Given the description of an element on the screen output the (x, y) to click on. 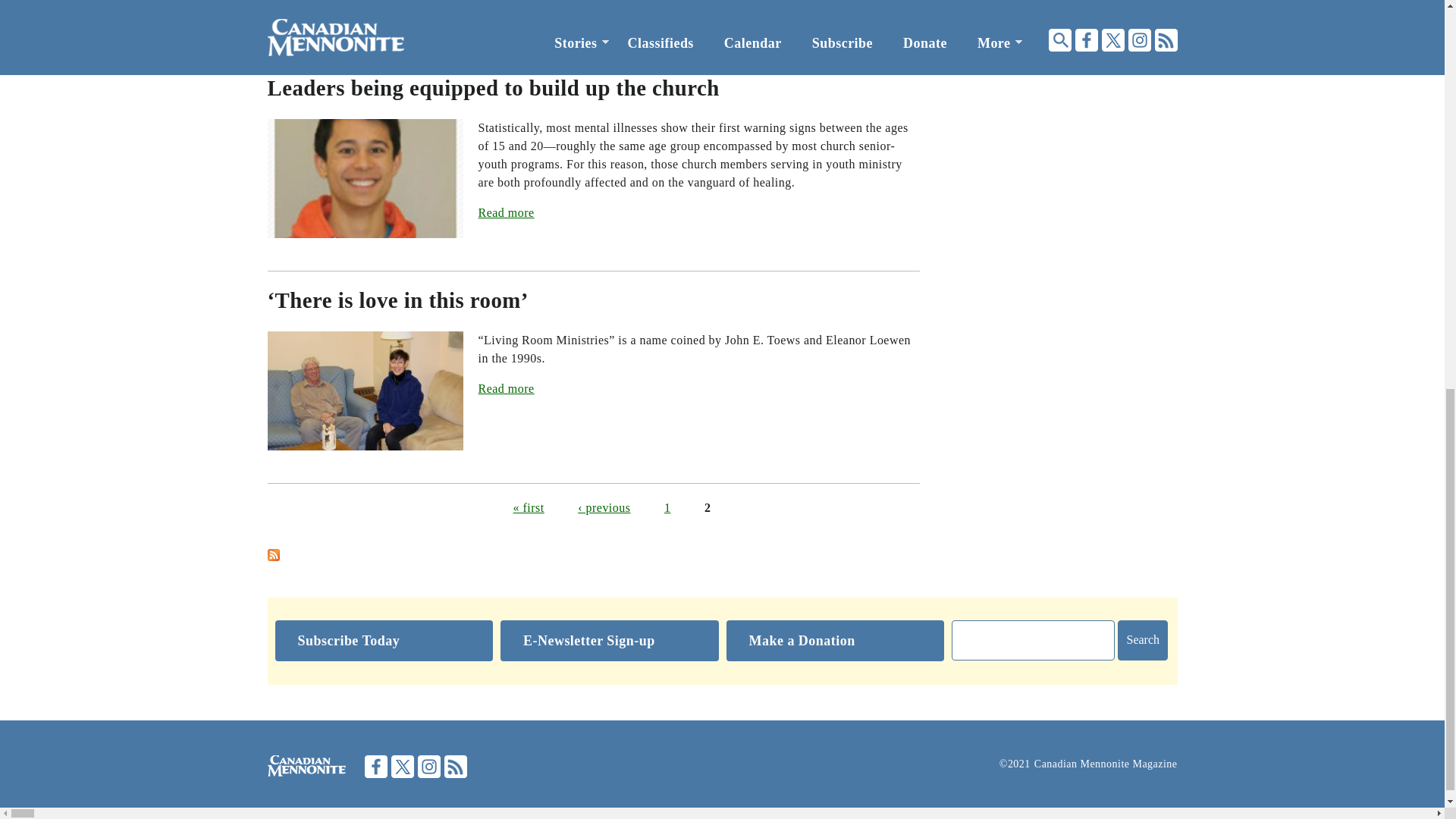
Search (1142, 639)
